Given the description of an element on the screen output the (x, y) to click on. 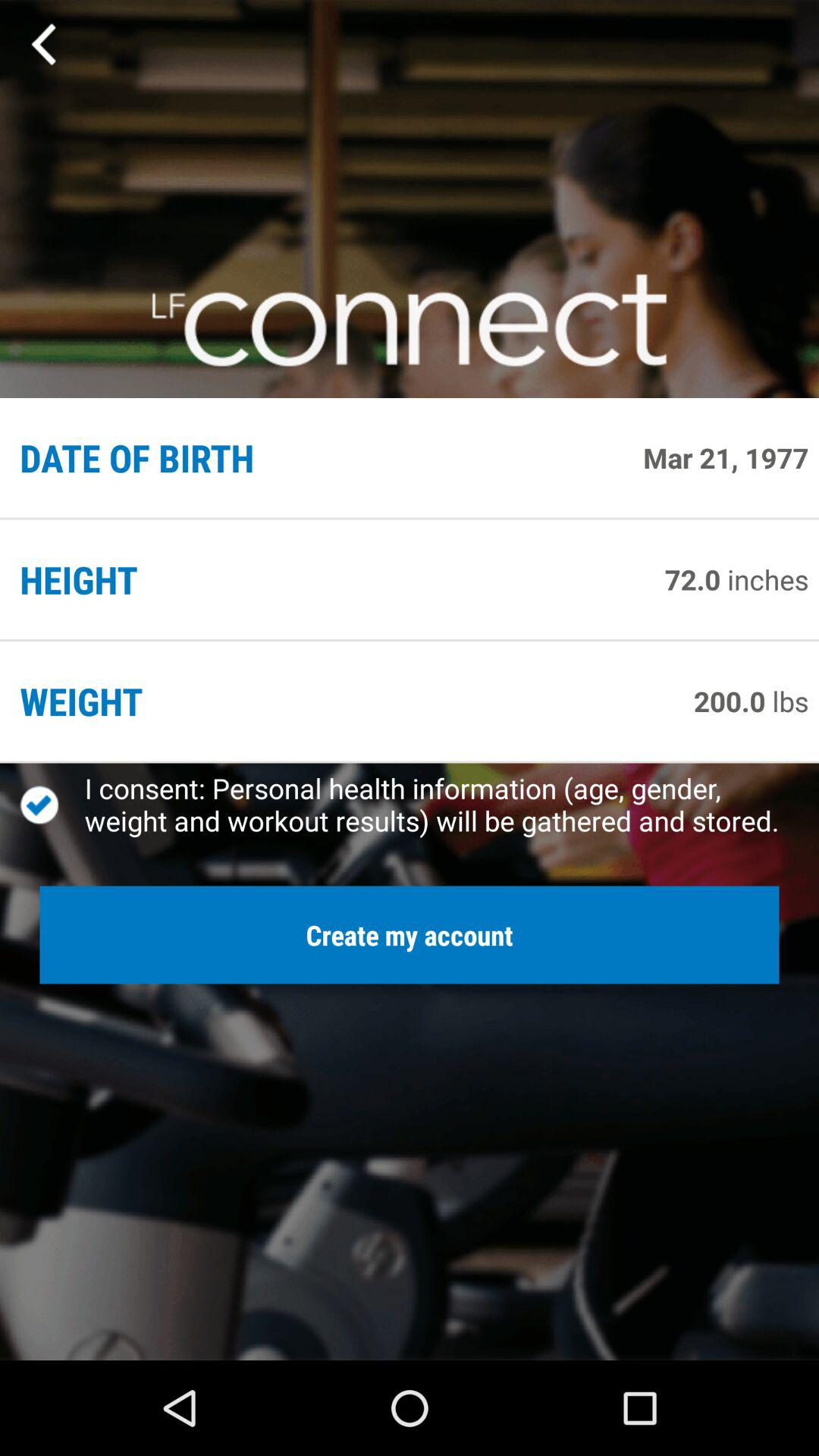
scroll to create my account button (409, 934)
